Given the description of an element on the screen output the (x, y) to click on. 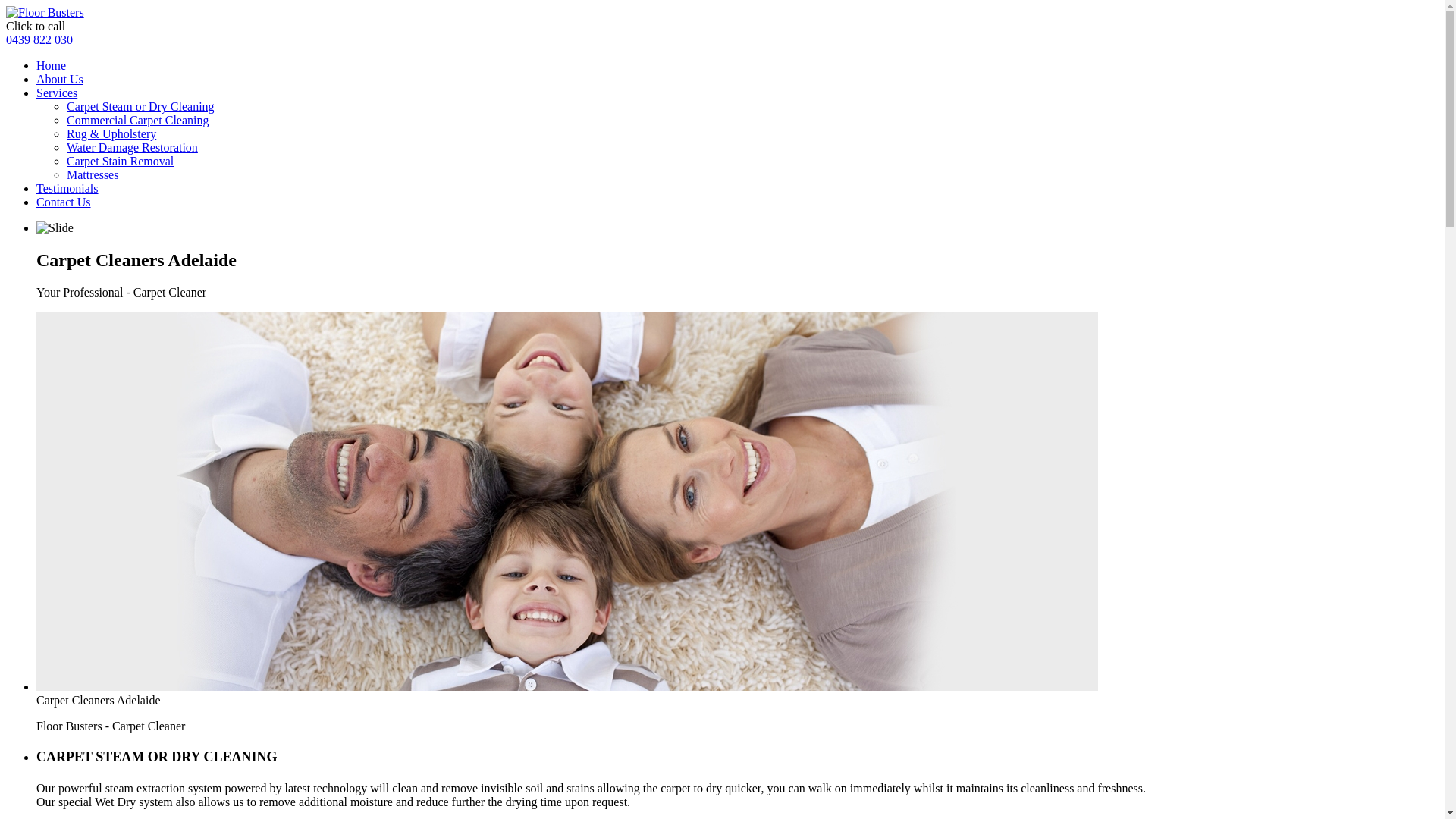
0439 822 030 Element type: text (39, 39)
Contact Us Element type: text (63, 201)
Rug & Upholstery Element type: text (111, 133)
Mattresses Element type: text (92, 174)
Carpet Steam or Dry Cleaning Element type: text (140, 106)
Testimonials Element type: text (67, 188)
Carpet Stain Removal Element type: text (119, 160)
About Us Element type: text (59, 78)
Commercial Carpet Cleaning Element type: text (137, 119)
Home Element type: text (50, 65)
Services Element type: text (56, 92)
Water Damage Restoration Element type: text (131, 147)
